Given the description of an element on the screen output the (x, y) to click on. 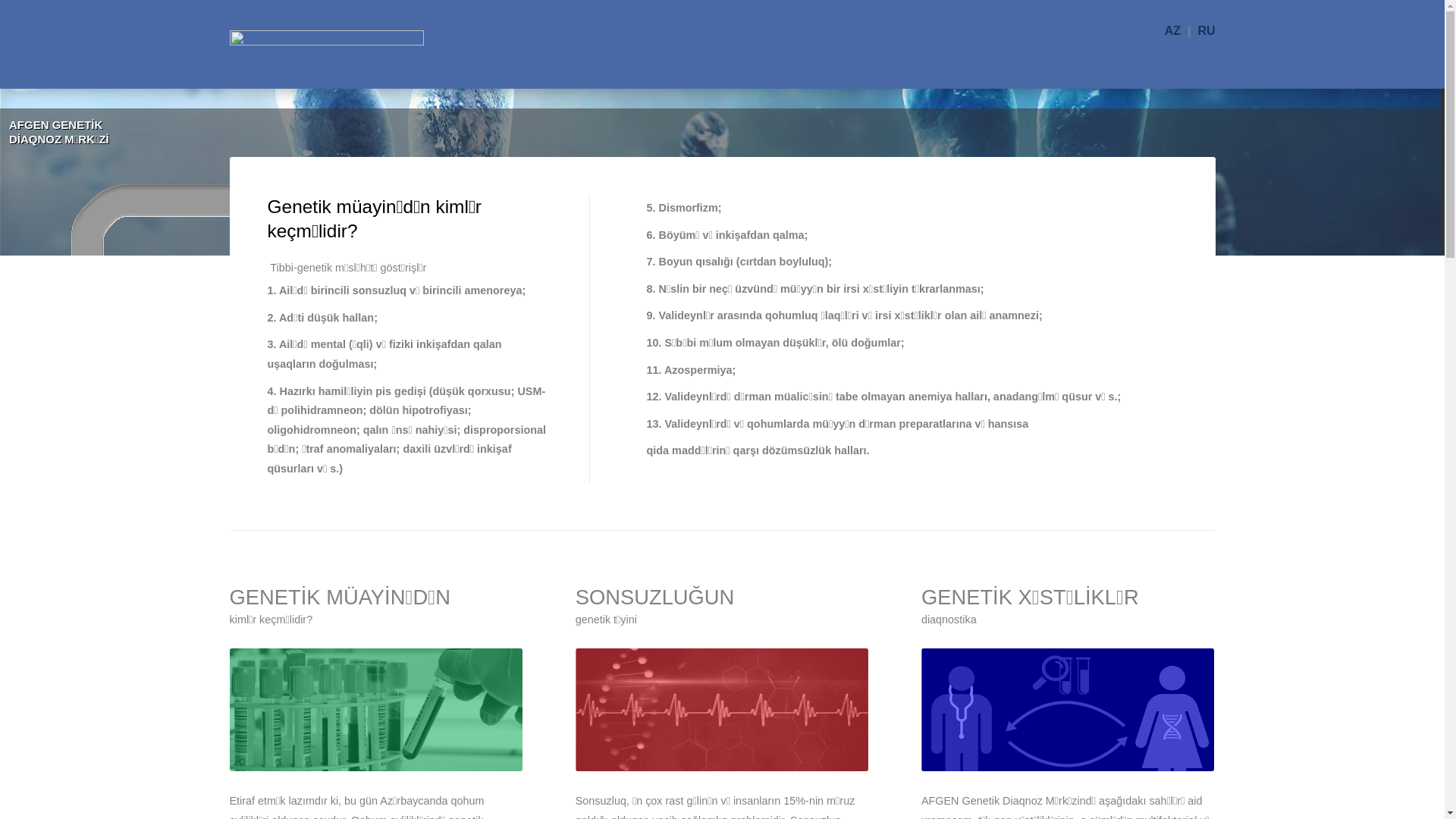
RU Element type: text (1205, 30)
AZ  Element type: text (1175, 30)
